Given the description of an element on the screen output the (x, y) to click on. 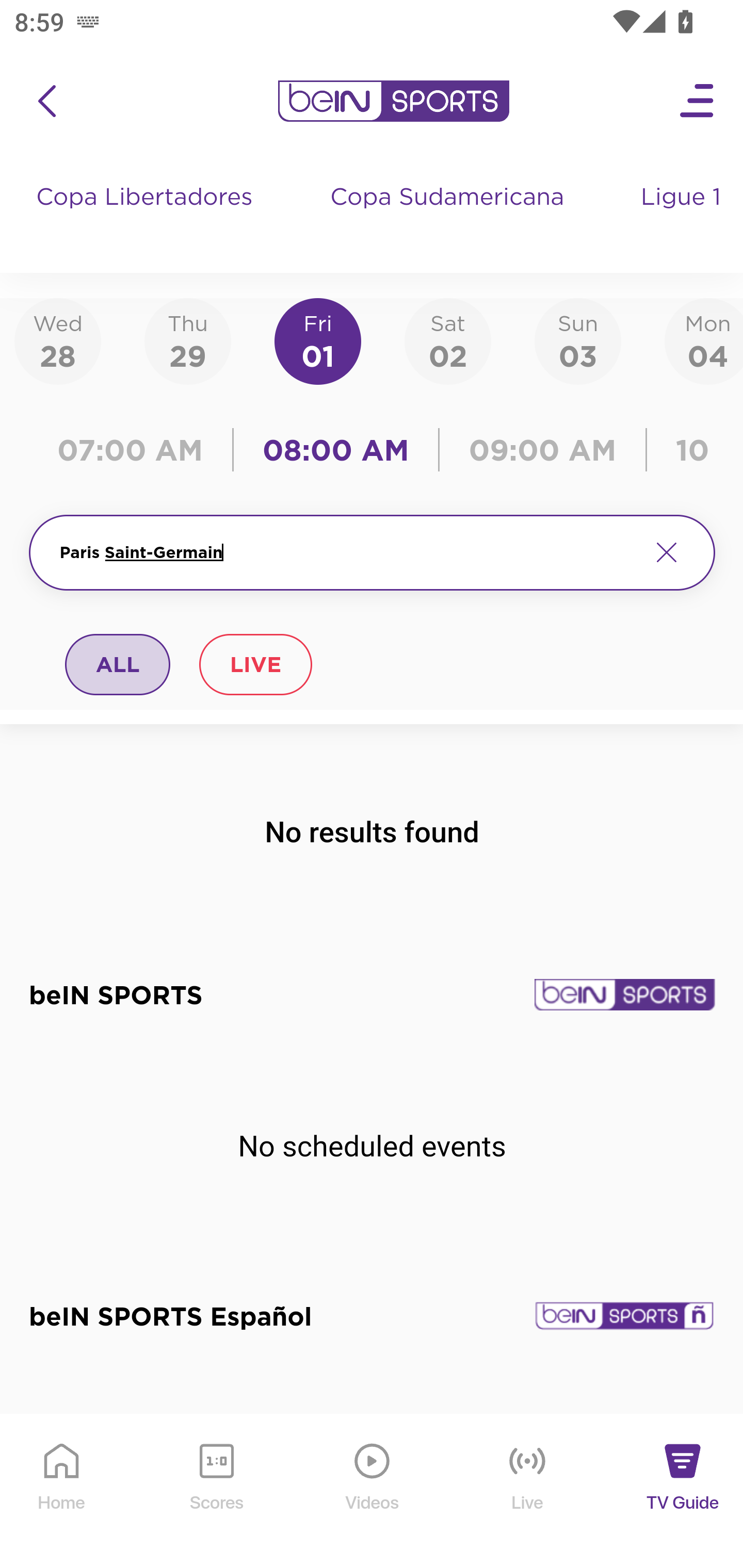
en-us?platform=mobile_android bein logo (392, 101)
icon back (46, 101)
Open Menu Icon (697, 101)
Copa Libertadores (146, 216)
Copa Sudamericana (448, 216)
Ligue 1 (682, 216)
Wed28 (58, 340)
Thu29 (187, 340)
Fri01 (318, 340)
Sat02 (447, 340)
Sun03 (578, 340)
Mon04 (703, 340)
07:00 AM (135, 449)
08:00 AM (336, 449)
09:00 AM (542, 449)
Paris Saint-Germain (346, 552)
ALL (118, 663)
LIVE (255, 663)
Home Home Icon Home (61, 1491)
Scores Scores Icon Scores (216, 1491)
Videos Videos Icon Videos (372, 1491)
TV Guide TV Guide Icon TV Guide (682, 1491)
